Given the description of an element on the screen output the (x, y) to click on. 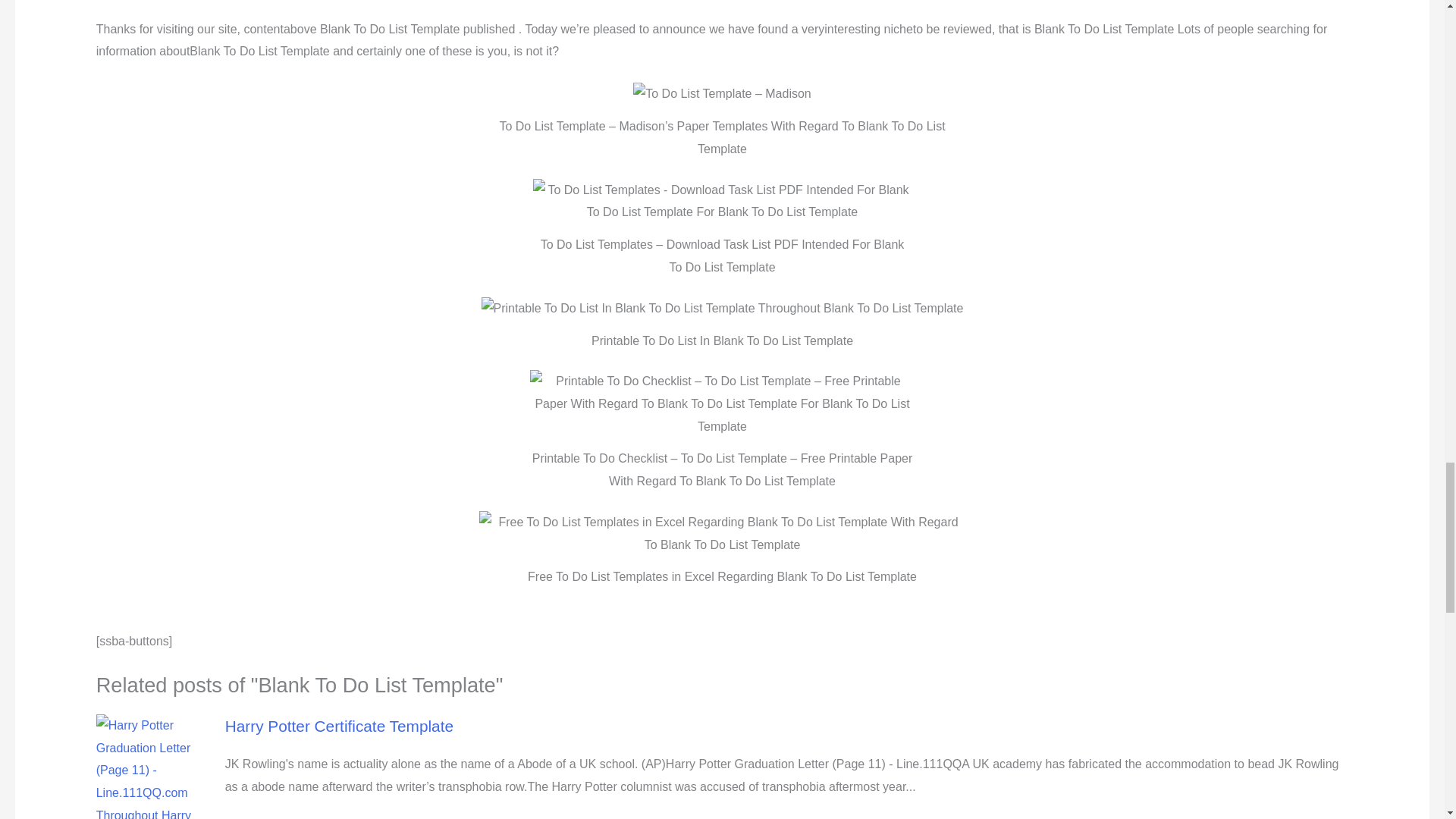
Harry Potter Certificate Template (338, 725)
